Given the description of an element on the screen output the (x, y) to click on. 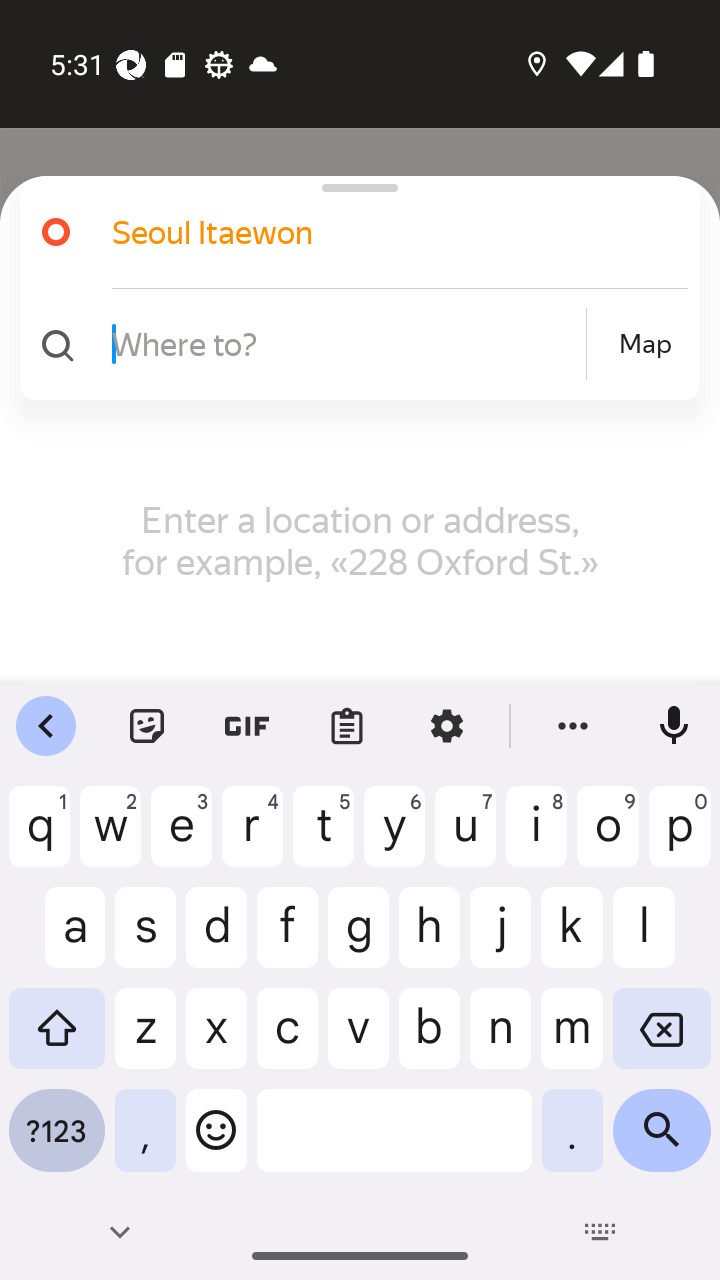
Seoul Itaewon (352, 232)
Seoul Itaewon (373, 232)
Where to? Map Map (352, 343)
Map (645, 343)
Where to? (346, 343)
